Given the description of an element on the screen output the (x, y) to click on. 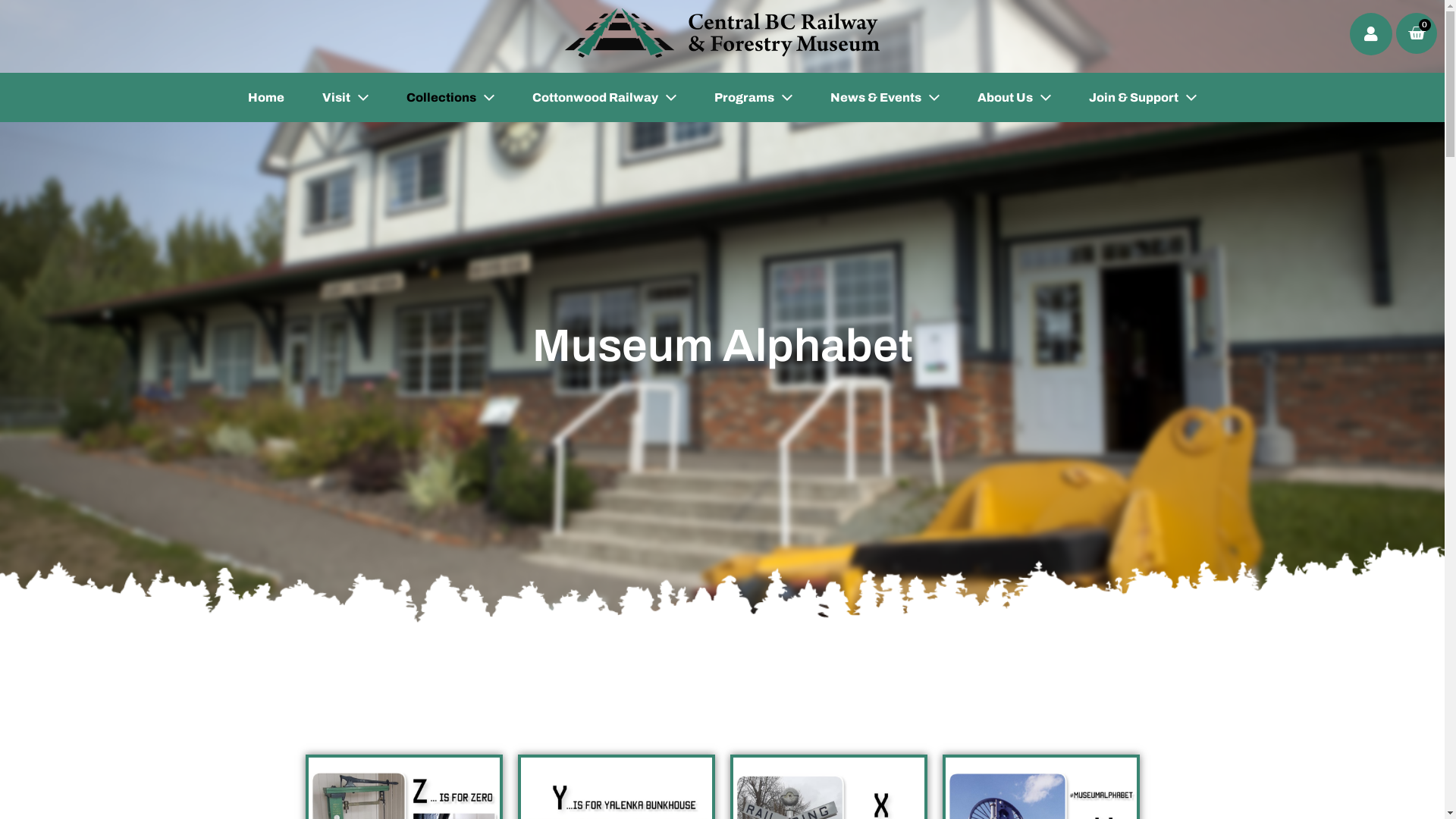
Collections Element type: text (450, 97)
Home Element type: text (266, 97)
0 Element type: text (1416, 32)
News & Events Element type: text (884, 97)
Cottonwood Railway Element type: text (604, 97)
Programs Element type: text (753, 97)
Visit Element type: text (345, 97)
Join & Support Element type: text (1142, 97)
About Us Element type: text (1014, 97)
